Given the description of an element on the screen output the (x, y) to click on. 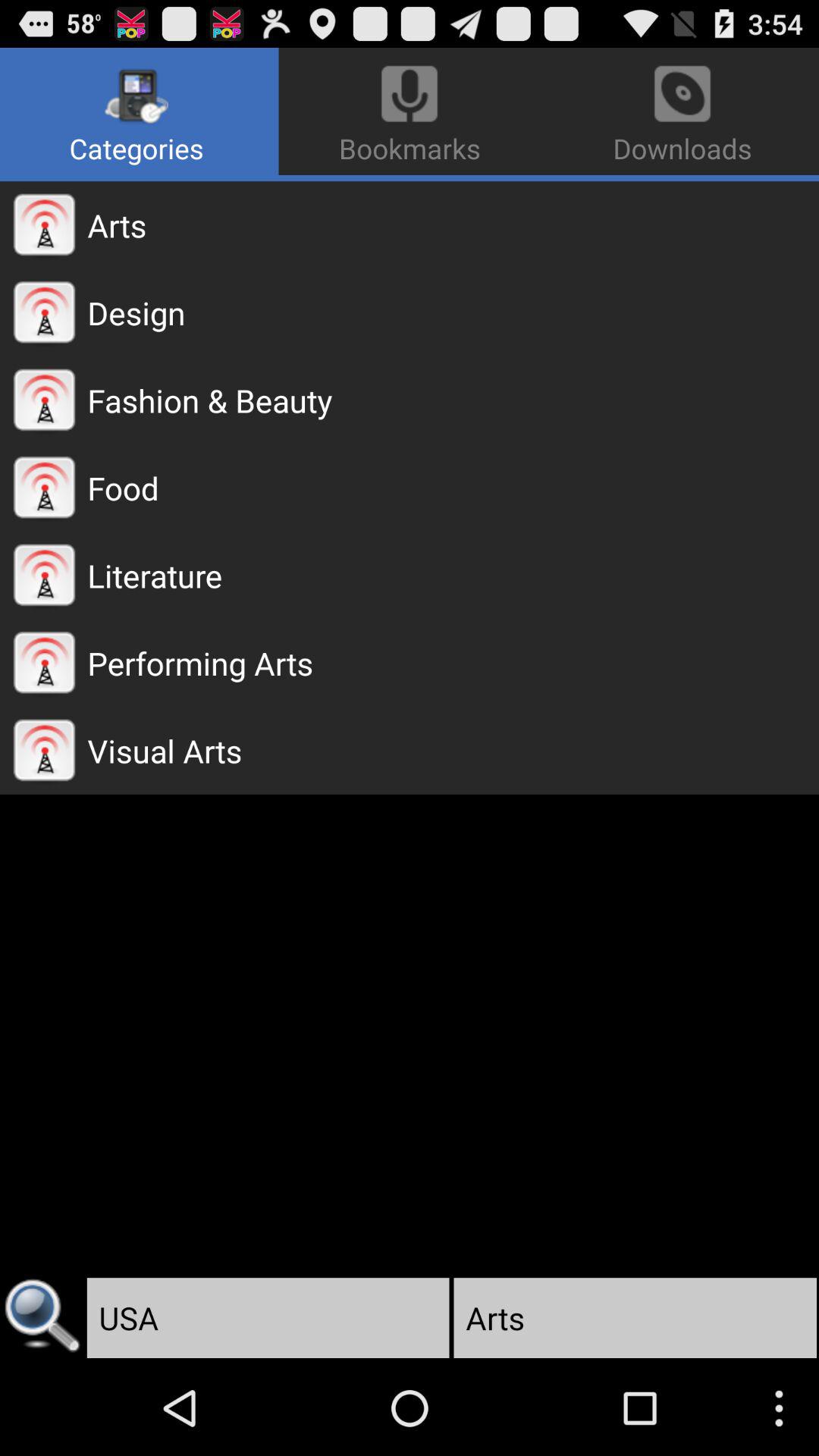
launch the downloads app (679, 111)
